Given the description of an element on the screen output the (x, y) to click on. 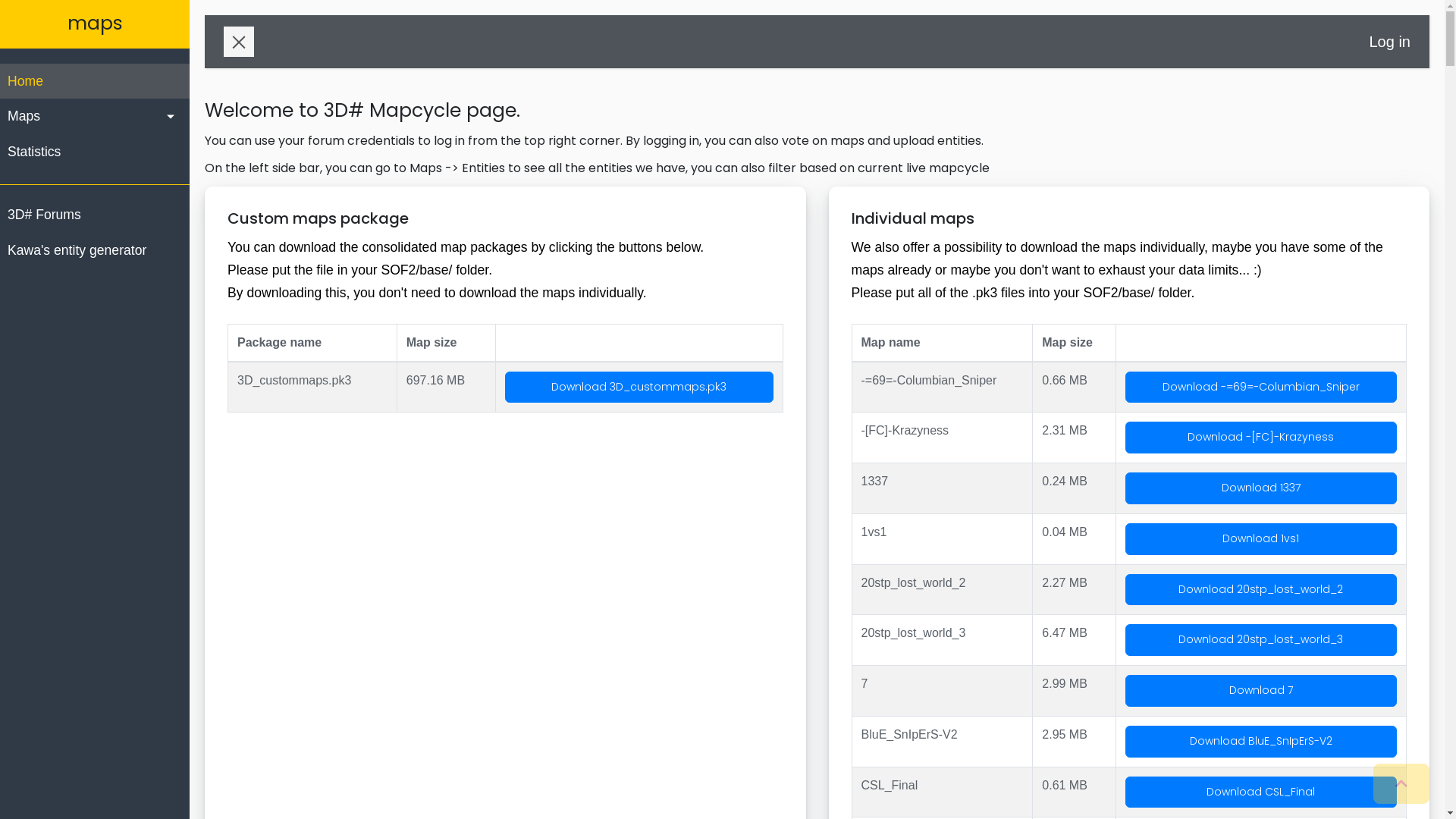
Download 1337 Element type: text (1260, 488)
Download 7 Element type: text (1260, 690)
Home Element type: text (94, 80)
Download BluE_SnIpErS-V2 Element type: text (1260, 741)
Maps Element type: text (94, 115)
Download 1vs1 Element type: text (1260, 539)
Download CSL_Final Element type: text (1260, 792)
Log in Element type: text (1390, 41)
Download 20stp_lost_world_2 Element type: text (1260, 589)
Kawa's entity generator Element type: text (94, 249)
Download -=69=-Columbian_Sniper Element type: text (1260, 387)
Download 3D_custommaps.pk3 Element type: text (639, 387)
3D# Forums Element type: text (94, 214)
Statistics Element type: text (94, 151)
Download 20stp_lost_world_3 Element type: text (1260, 639)
Download -[FC]-Krazyness Element type: text (1260, 437)
